Given the description of an element on the screen output the (x, y) to click on. 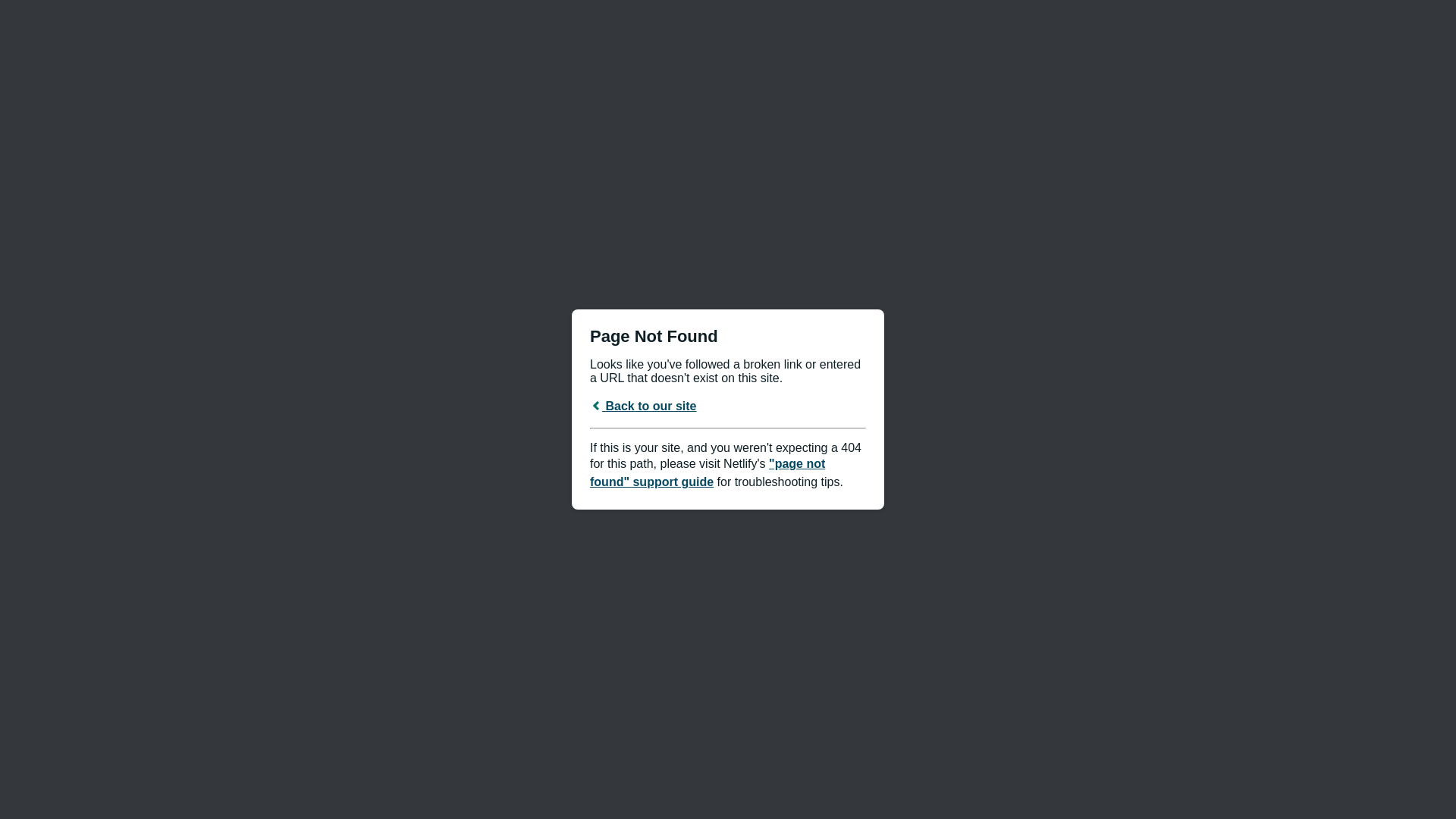
Back to our site Element type: text (642, 405)
"page not found" support guide Element type: text (707, 472)
